Given the description of an element on the screen output the (x, y) to click on. 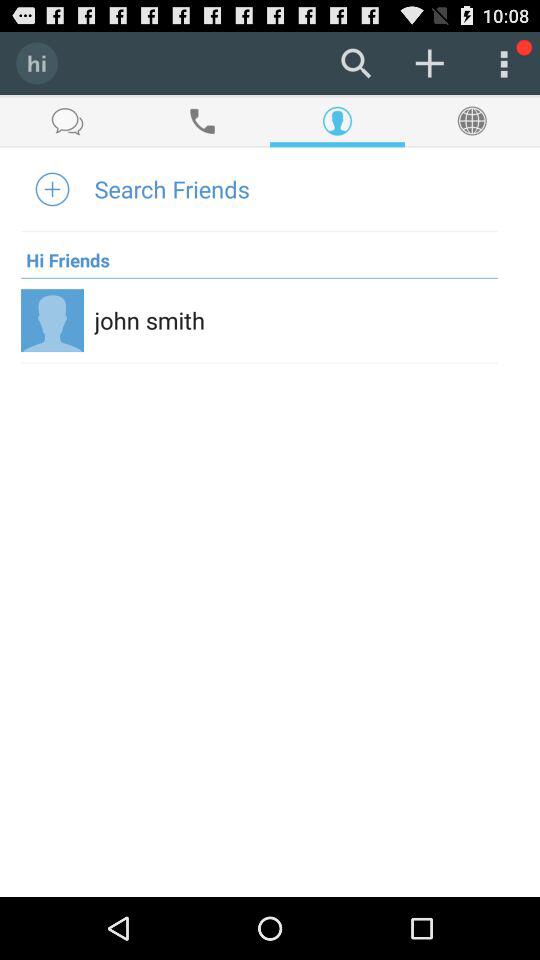
choose the item above the hi friends (171, 188)
